Given the description of an element on the screen output the (x, y) to click on. 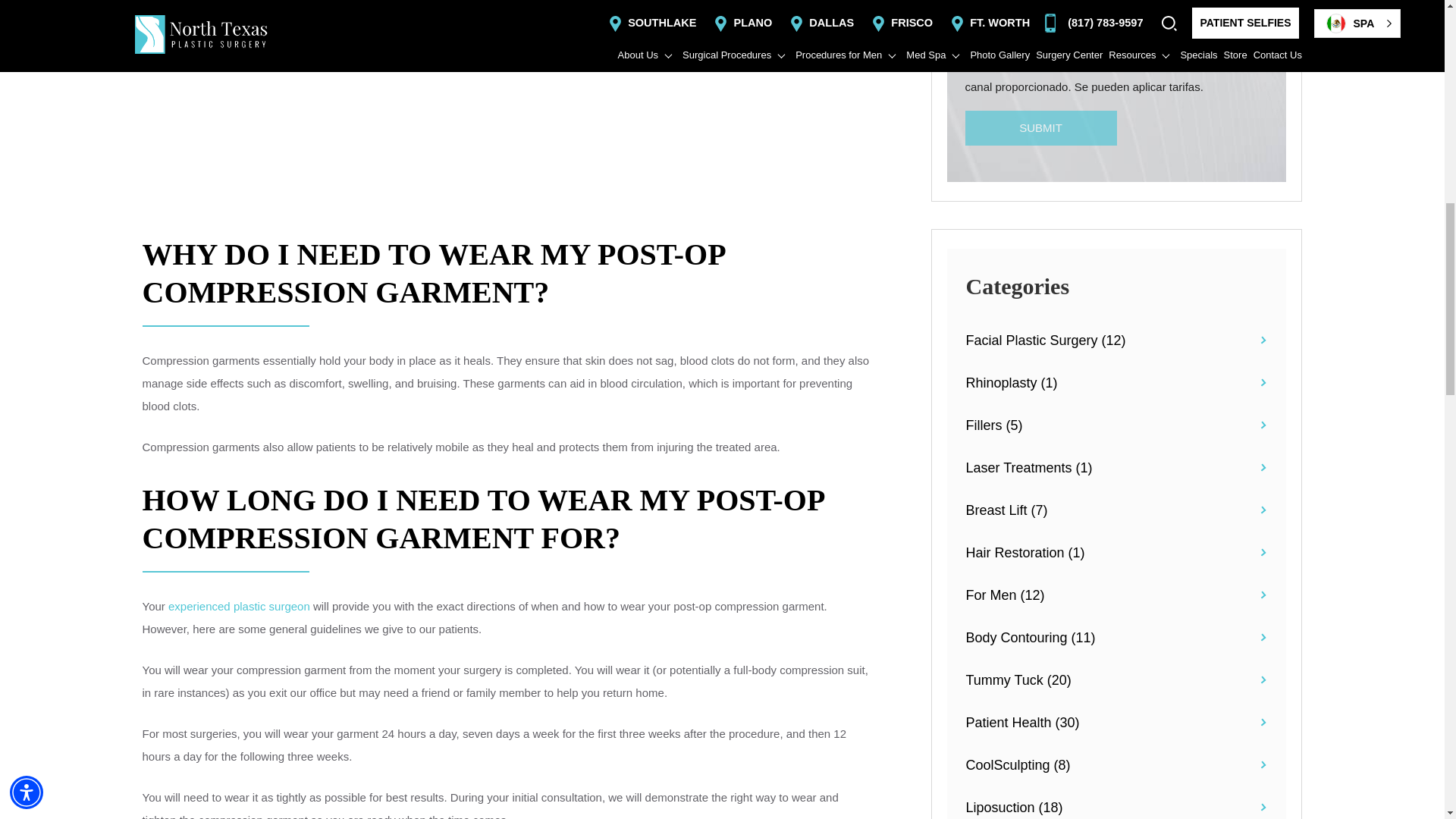
Post Op Compression Garments (506, 106)
Submit (1039, 128)
